Given the description of an element on the screen output the (x, y) to click on. 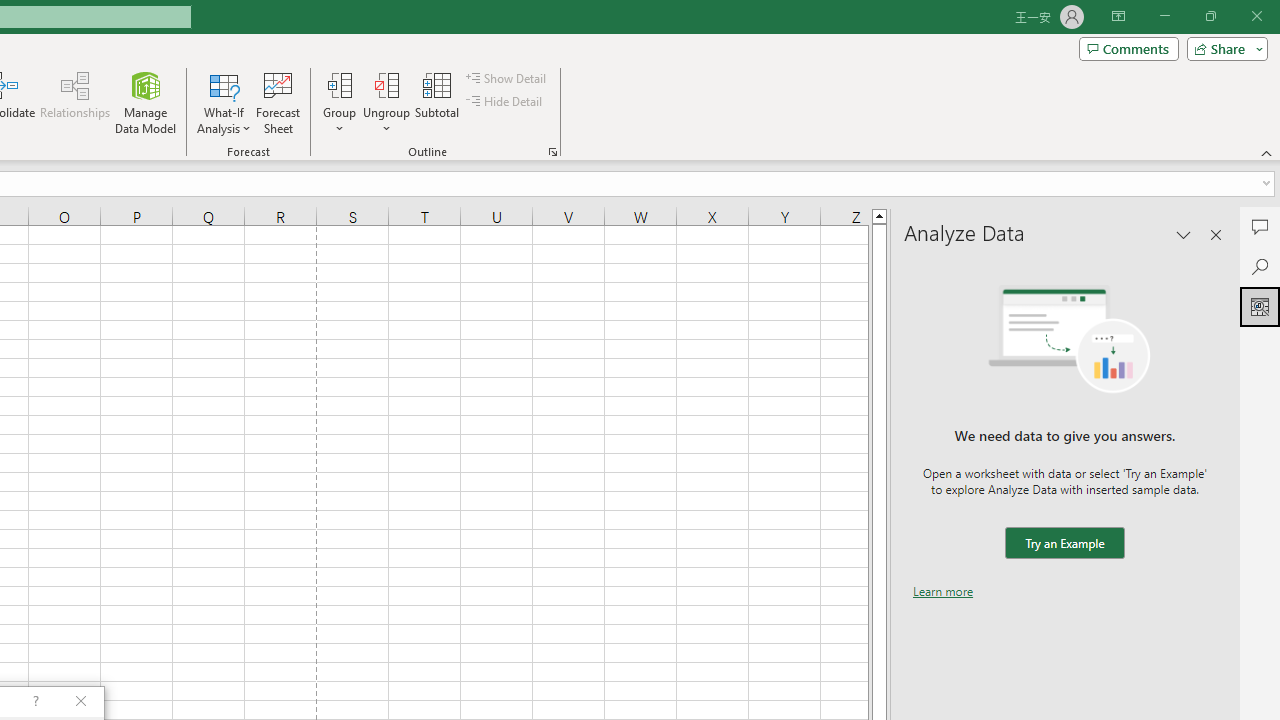
Manage Data Model (145, 102)
Learn more (943, 591)
Hide Detail (505, 101)
Subtotal (437, 102)
We need data to give you answers. Try an Example (1064, 543)
